Given the description of an element on the screen output the (x, y) to click on. 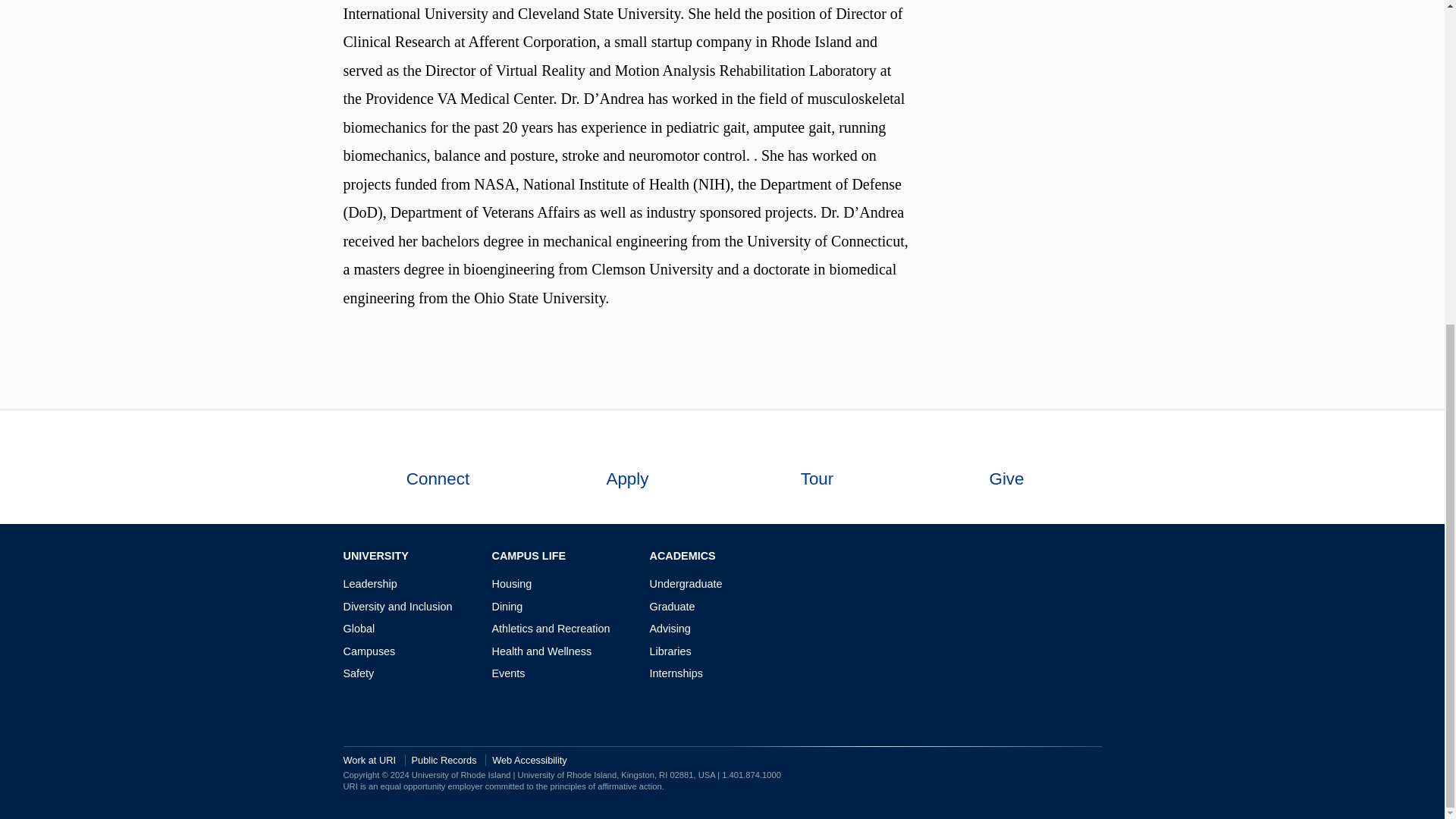
X (1070, 557)
Global (358, 628)
Apply (627, 467)
Instagram (1048, 557)
Give (1005, 467)
Connect (437, 467)
Graduate (671, 606)
Leadership (369, 583)
Facebook (1024, 557)
Athletics and Recreation (551, 628)
